Given the description of an element on the screen output the (x, y) to click on. 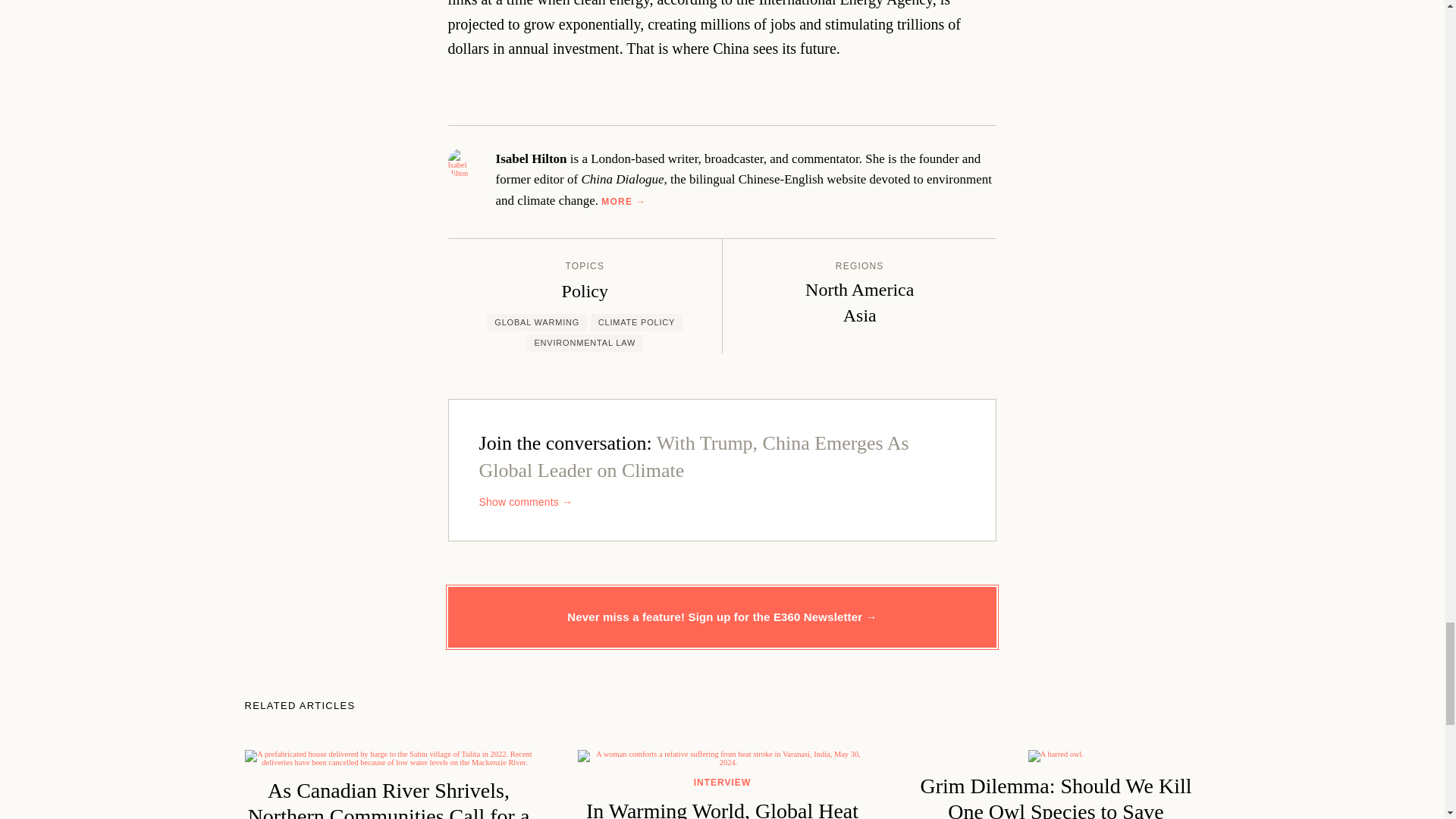
Email (762, 88)
Policy (585, 291)
North America (859, 289)
Asia (859, 315)
ENVIRONMENTAL LAW (584, 343)
CLIMATE POLICY (636, 322)
Twitter (722, 88)
Facebook (683, 88)
